Given the description of an element on the screen output the (x, y) to click on. 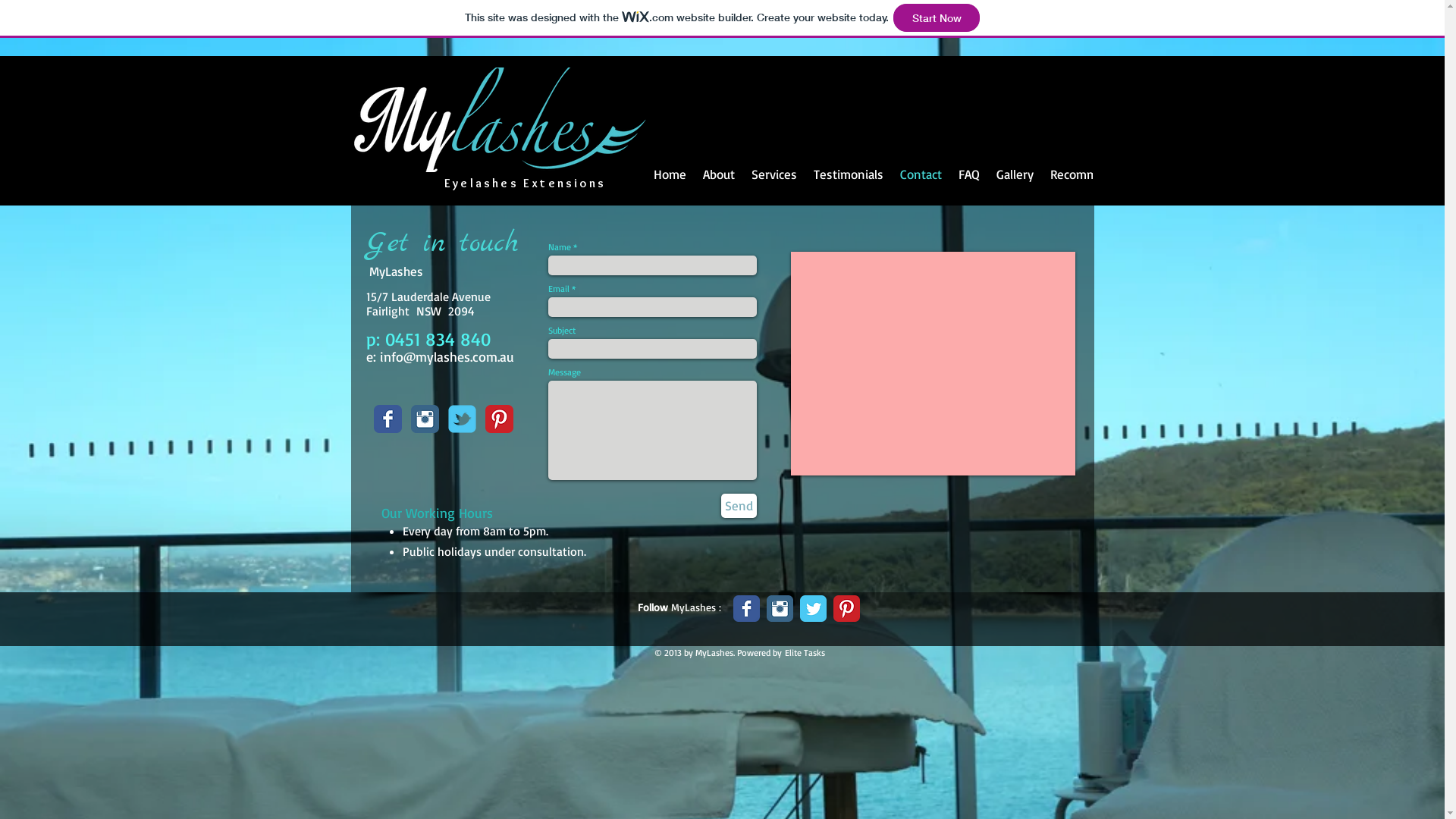
Services Element type: text (774, 183)
MyLashes_FINAL_LOGO_INVERTED.png Element type: hover (499, 119)
Testimonials Element type: text (848, 183)
FAQ Element type: text (968, 183)
Home Element type: text (668, 183)
Gallery Element type: text (1014, 183)
About Element type: text (718, 183)
Send Element type: text (738, 505)
Contact Element type: text (920, 183)
Recommend Element type: text (1083, 183)
info@mylashes.com.au Element type: text (446, 356)
